Given the description of an element on the screen output the (x, y) to click on. 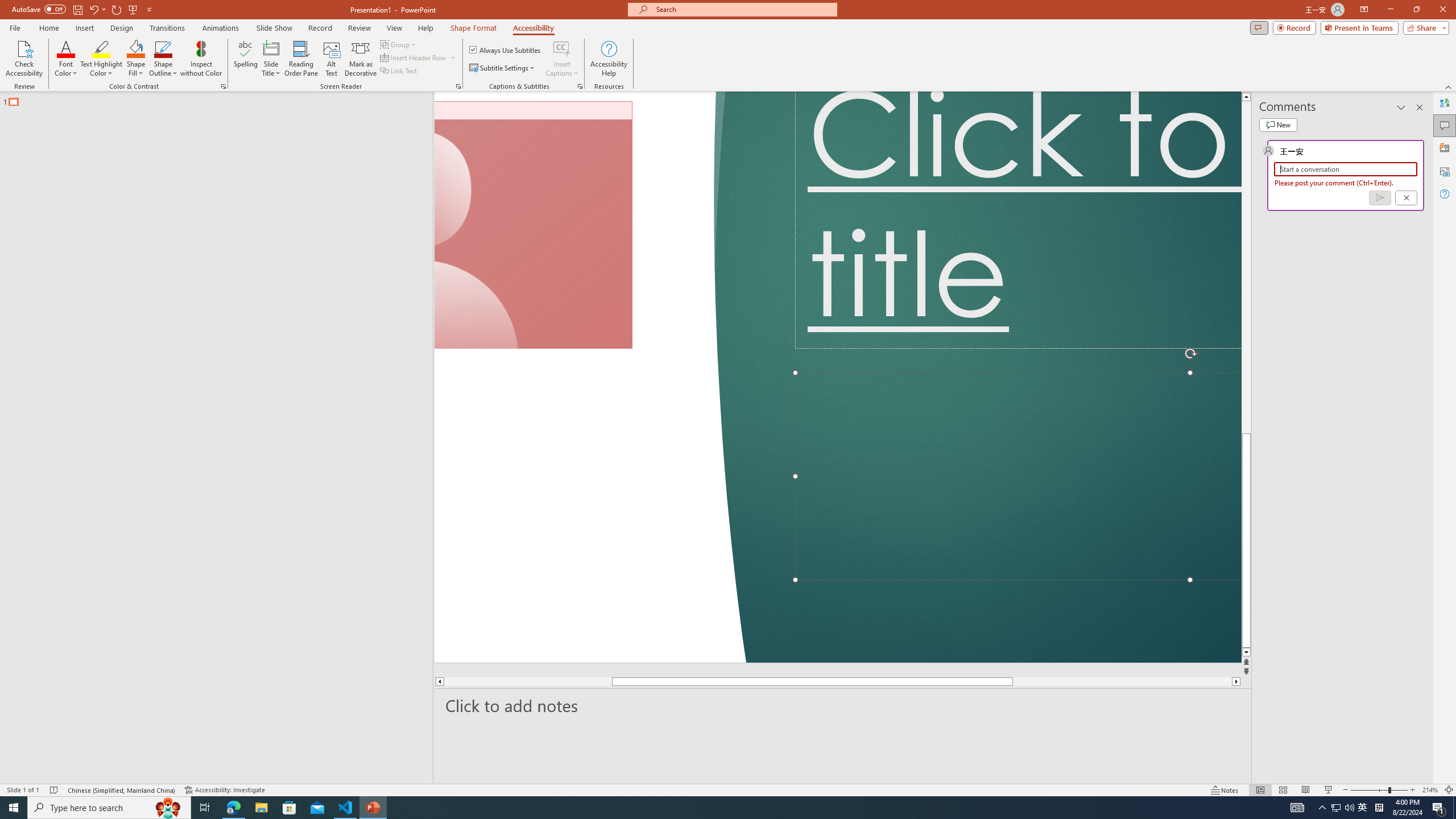
Paragraph... (634, 128)
Font Size (205, 77)
Share (1415, 47)
Font Color Red (317, 102)
Focus  (1175, 773)
Superscript (221, 102)
Distributed (496, 102)
Phonetic Guide... (350, 77)
Font (138, 77)
Shading RGB(0, 0, 0) (558, 102)
Mailings (458, 47)
Numbering (448, 77)
